Given the description of an element on the screen output the (x, y) to click on. 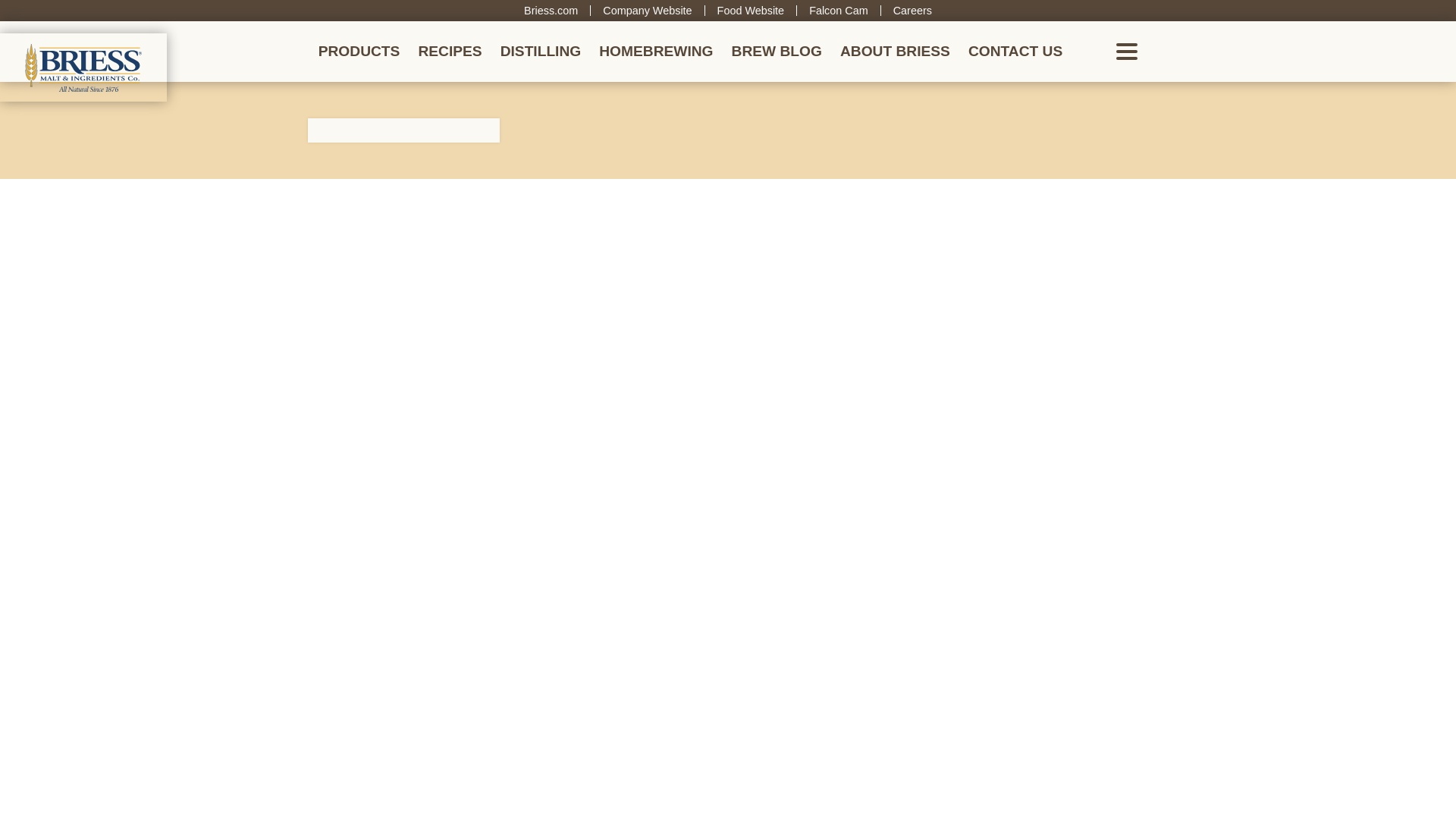
RECIPES (443, 51)
ABOUT BRIESS (889, 51)
Food Website (744, 10)
Briess.com (545, 10)
CONTACT US (1009, 51)
DISTILLING (534, 51)
Company Website (640, 10)
Falcon Cam (833, 10)
BREW BLOG (770, 51)
HOMEBREWING (650, 51)
